Given the description of an element on the screen output the (x, y) to click on. 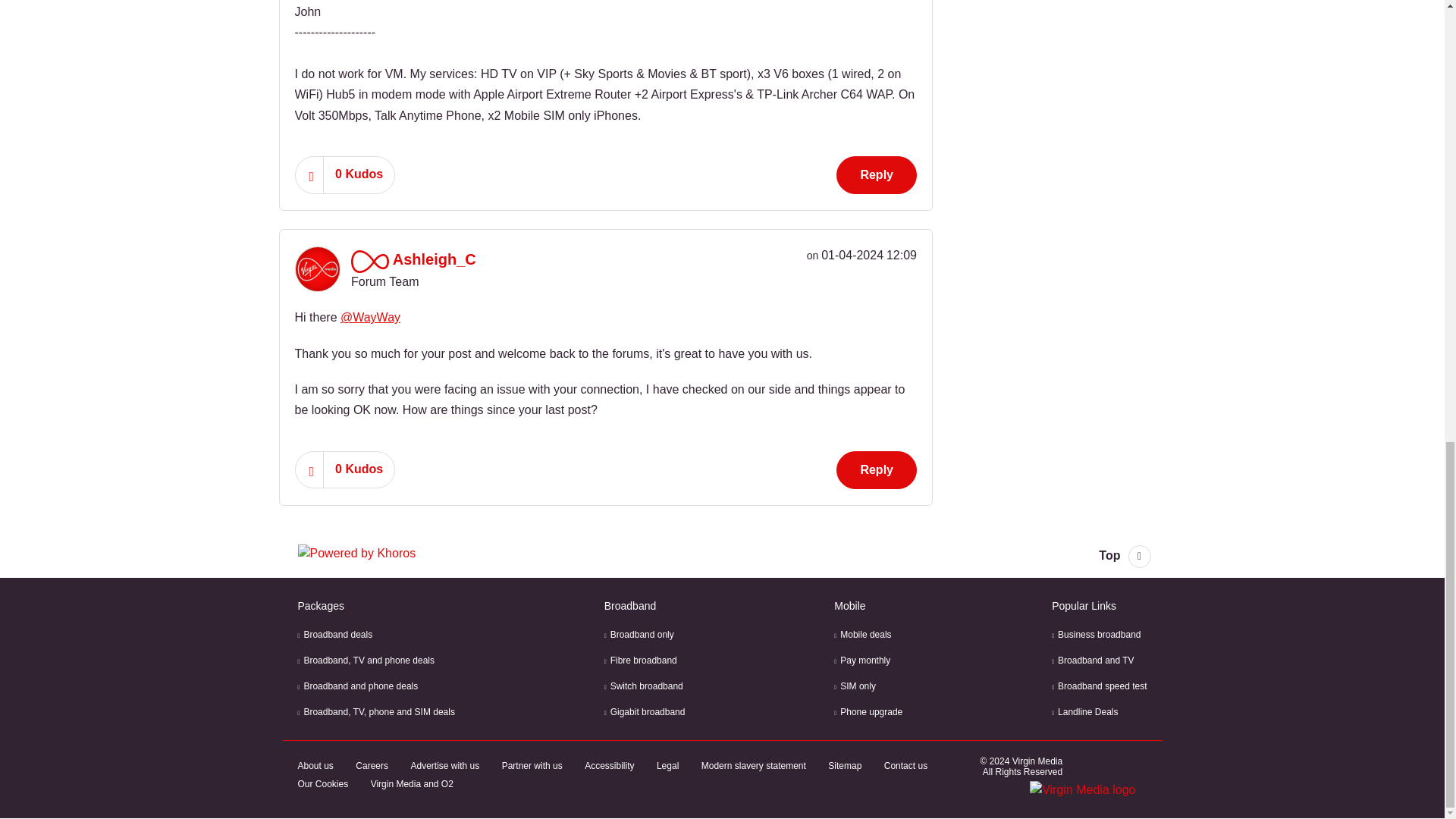
The total number of kudos this post has received. (358, 174)
